Given the description of an element on the screen output the (x, y) to click on. 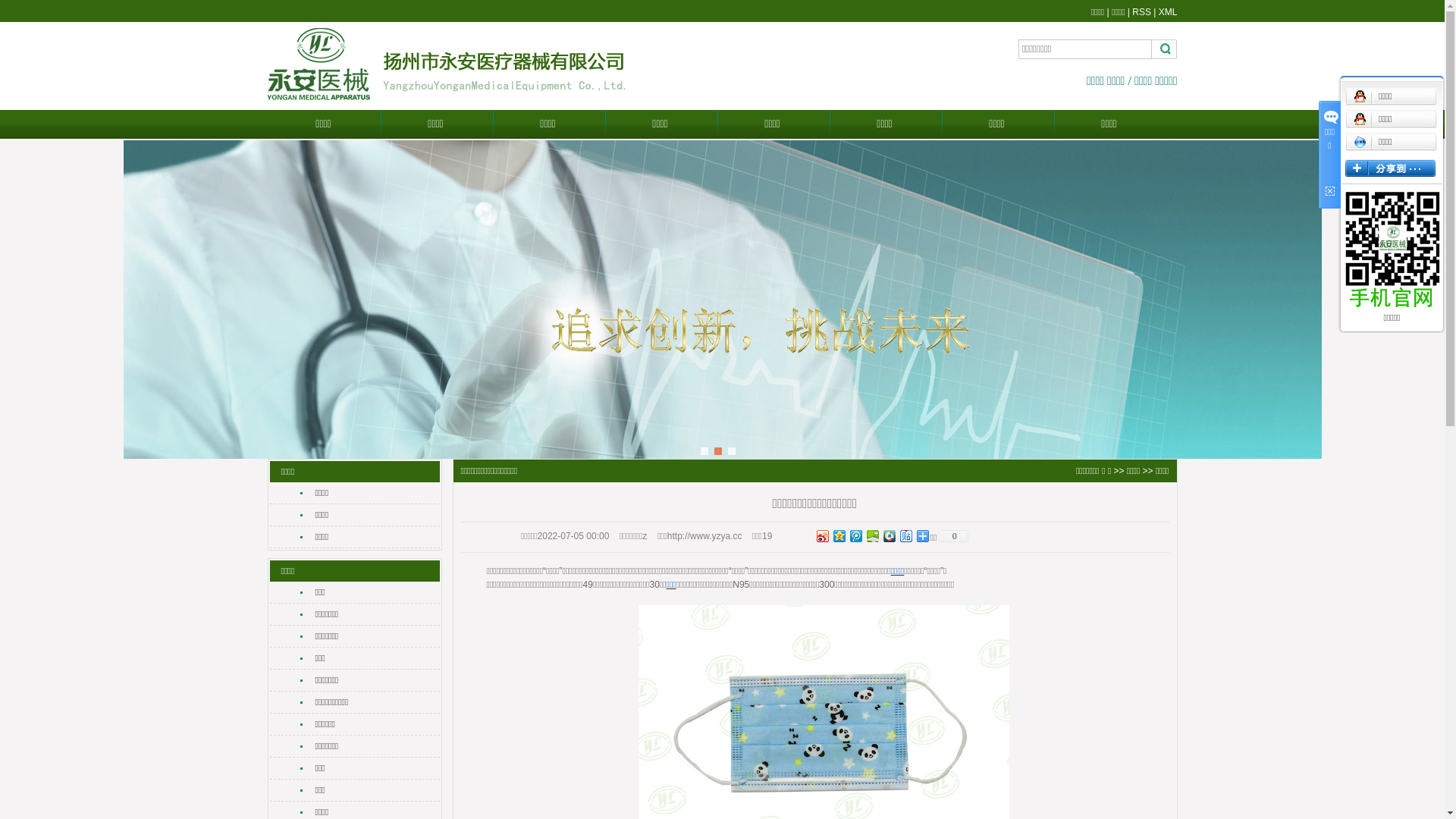
1 Element type: text (704, 451)
3 Element type: text (731, 451)
0 Element type: text (952, 536)
2 Element type: text (717, 451)
RSS Element type: text (1141, 11)
XML Element type: text (1167, 11)
